Given the description of an element on the screen output the (x, y) to click on. 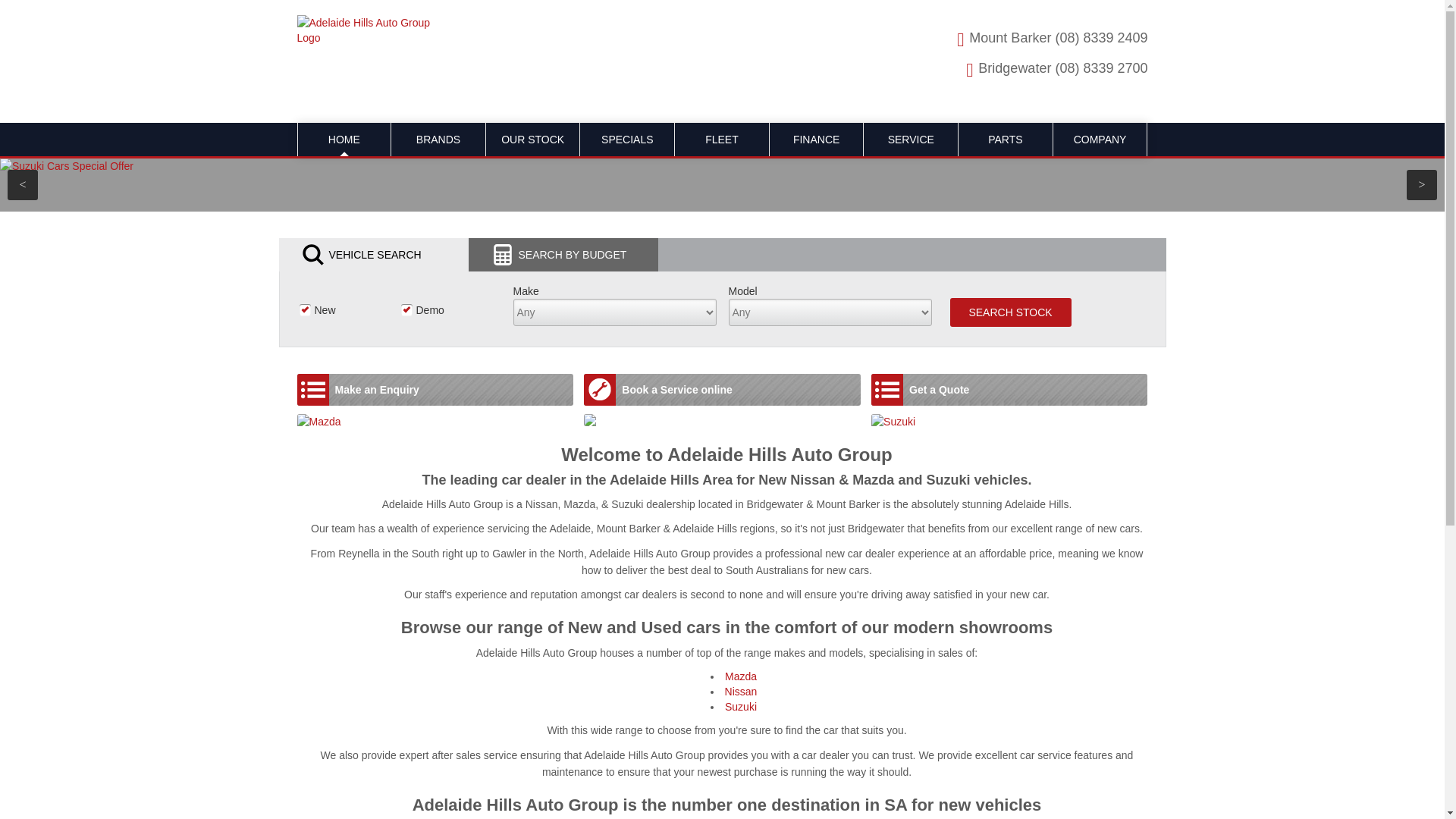
Mount Barker (08) 8339 2409 Element type: text (1025, 40)
PARTS Element type: text (1005, 139)
SEARCH BY BUDGET Element type: text (563, 254)
Mazda Element type: text (740, 676)
SPECIALS Element type: text (627, 139)
COMPANY Element type: text (1100, 139)
FLEET Element type: text (721, 139)
Search Stock Element type: text (1009, 312)
Bridgewater (08) 8339 2700 Element type: text (1030, 70)
FINANCE Element type: text (816, 139)
Make an Enquiry Element type: text (435, 389)
Get a Quote Element type: text (1009, 389)
OUR STOCK Element type: text (533, 139)
Nissan Element type: text (740, 691)
Suzuki Element type: text (740, 706)
SERVICE Element type: text (910, 139)
VEHICLE SEARCH Element type: text (373, 254)
Book a Service online Element type: text (721, 389)
BRANDS Element type: text (438, 139)
HOME Element type: text (343, 139)
